Given the description of an element on the screen output the (x, y) to click on. 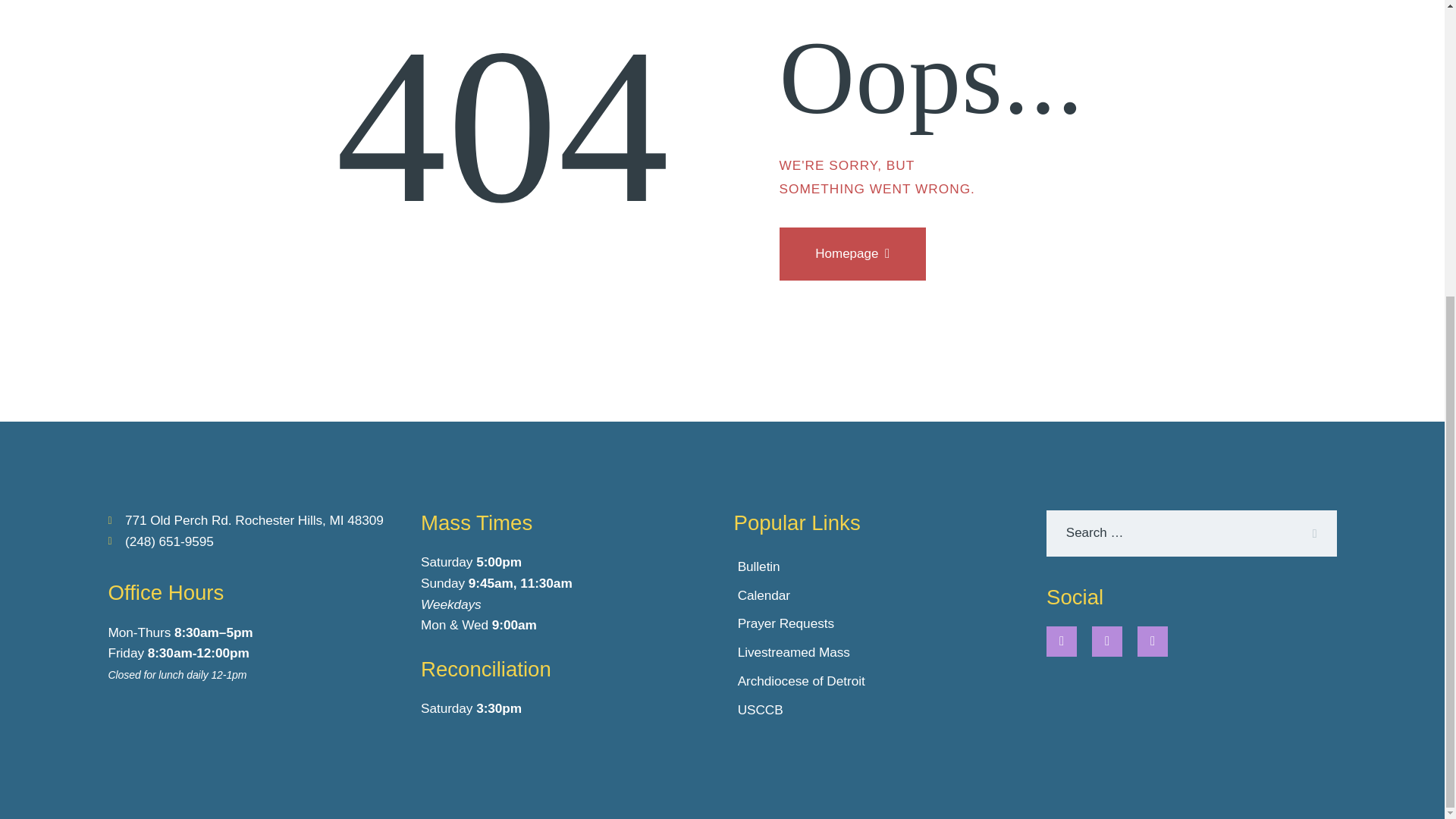
Search (1310, 533)
Search (1310, 533)
